Given the description of an element on the screen output the (x, y) to click on. 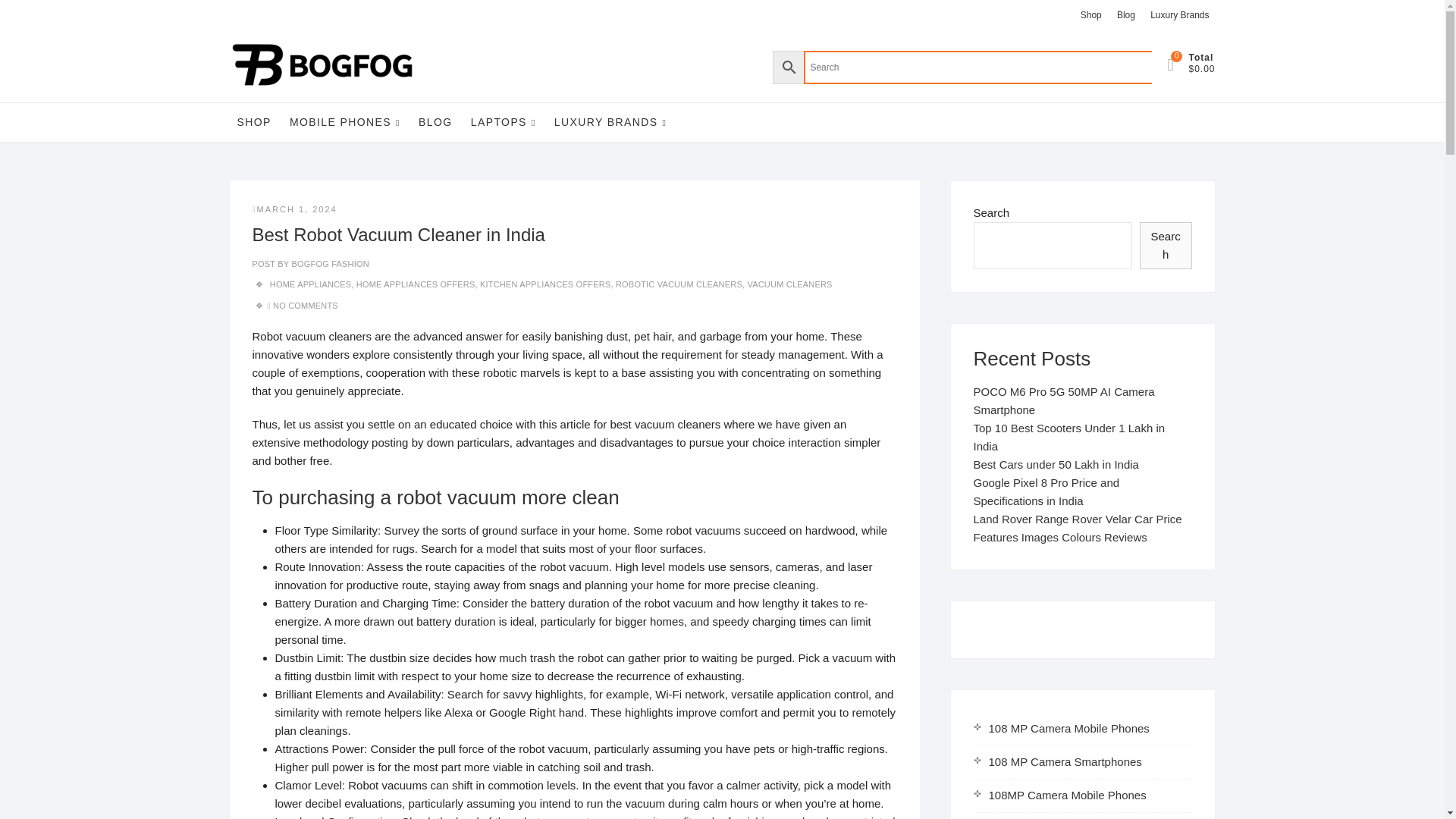
Luxury Brands (1179, 15)
Shop (1091, 15)
LUXURY BRANDS (611, 122)
HOME APPLIANCES OFFERS (416, 284)
BLOG (435, 121)
Best Robot Vacuum Cleaner in India (328, 263)
KITCHEN APPLIANCES OFFERS (545, 284)
HOME APPLIANCES (310, 284)
MARCH 1, 2024 (293, 208)
MOBILE PHONES (344, 122)
12:06 pm (293, 208)
ROBOTIC VACUUM CLEANERS (678, 284)
SHOP (253, 121)
Blog (1125, 15)
LAPTOPS (503, 122)
